Given the description of an element on the screen output the (x, y) to click on. 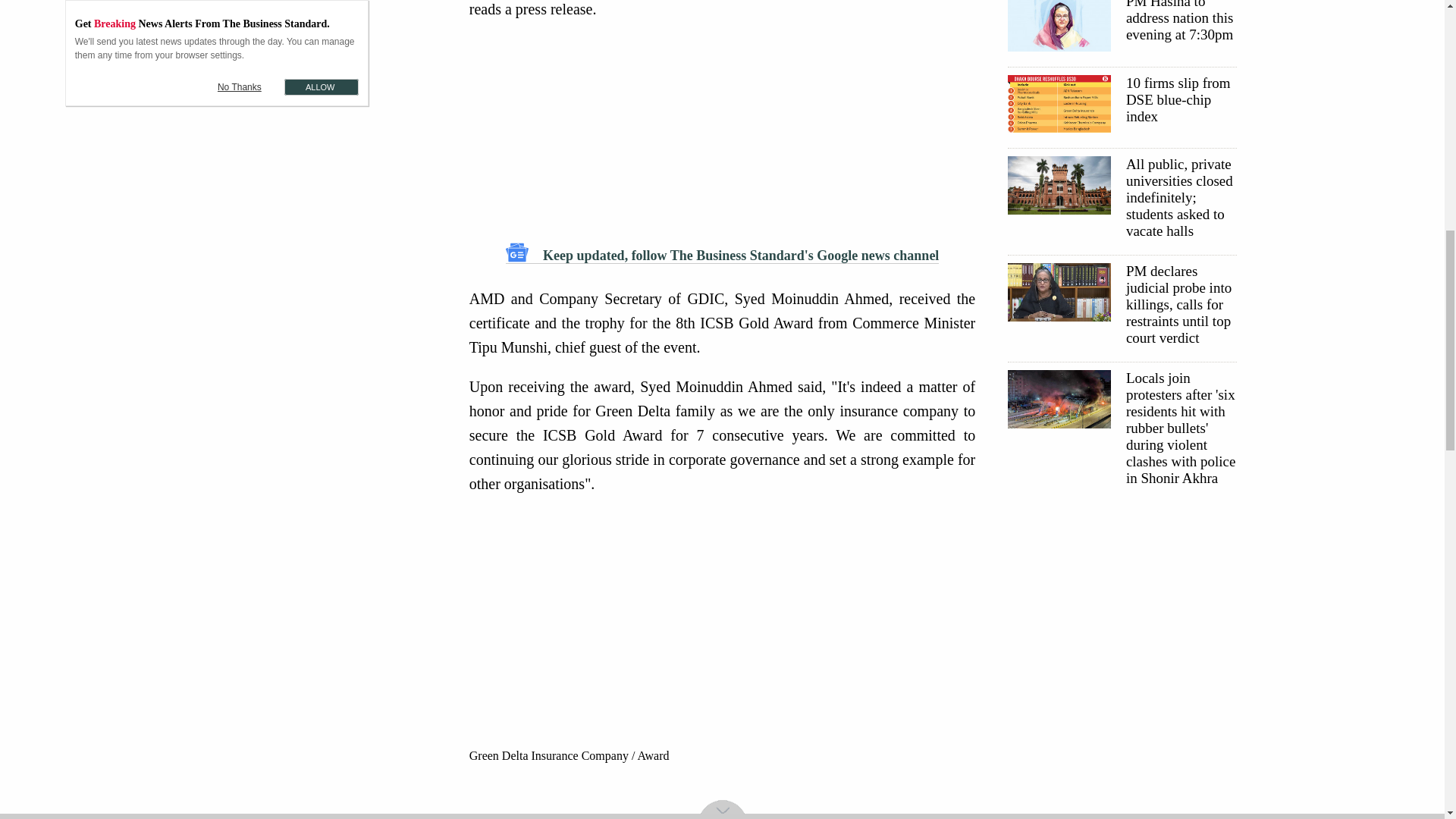
3rd party ad content (721, 131)
3rd party ad content (324, 53)
3rd party ad content (1120, 611)
3rd party ad content (721, 636)
3rd party ad content (726, 800)
